Given the description of an element on the screen output the (x, y) to click on. 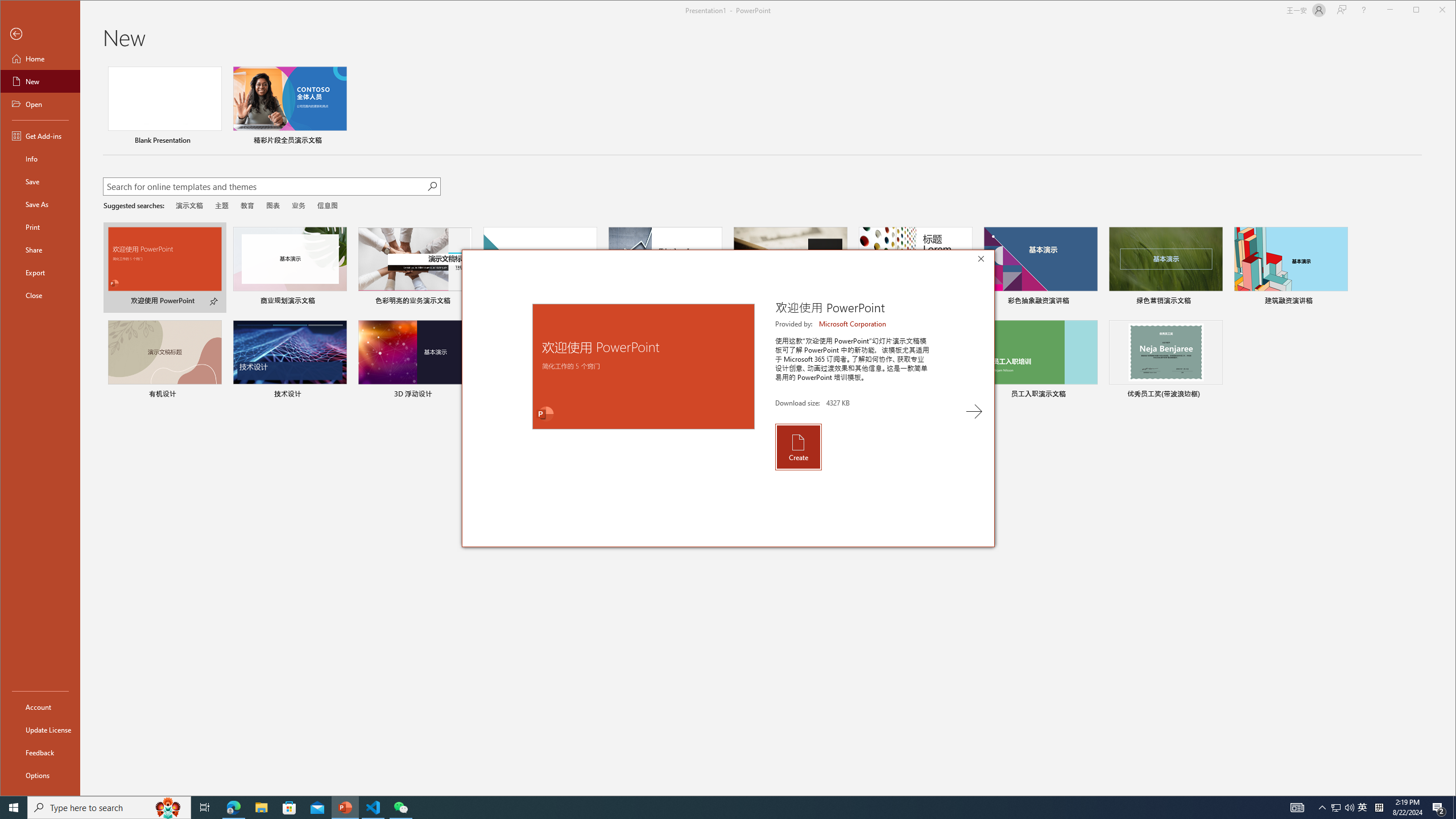
Microsoft Corporation (853, 323)
Preview (643, 366)
New (40, 80)
Save As (40, 203)
Export (40, 272)
Options (40, 775)
